Given the description of an element on the screen output the (x, y) to click on. 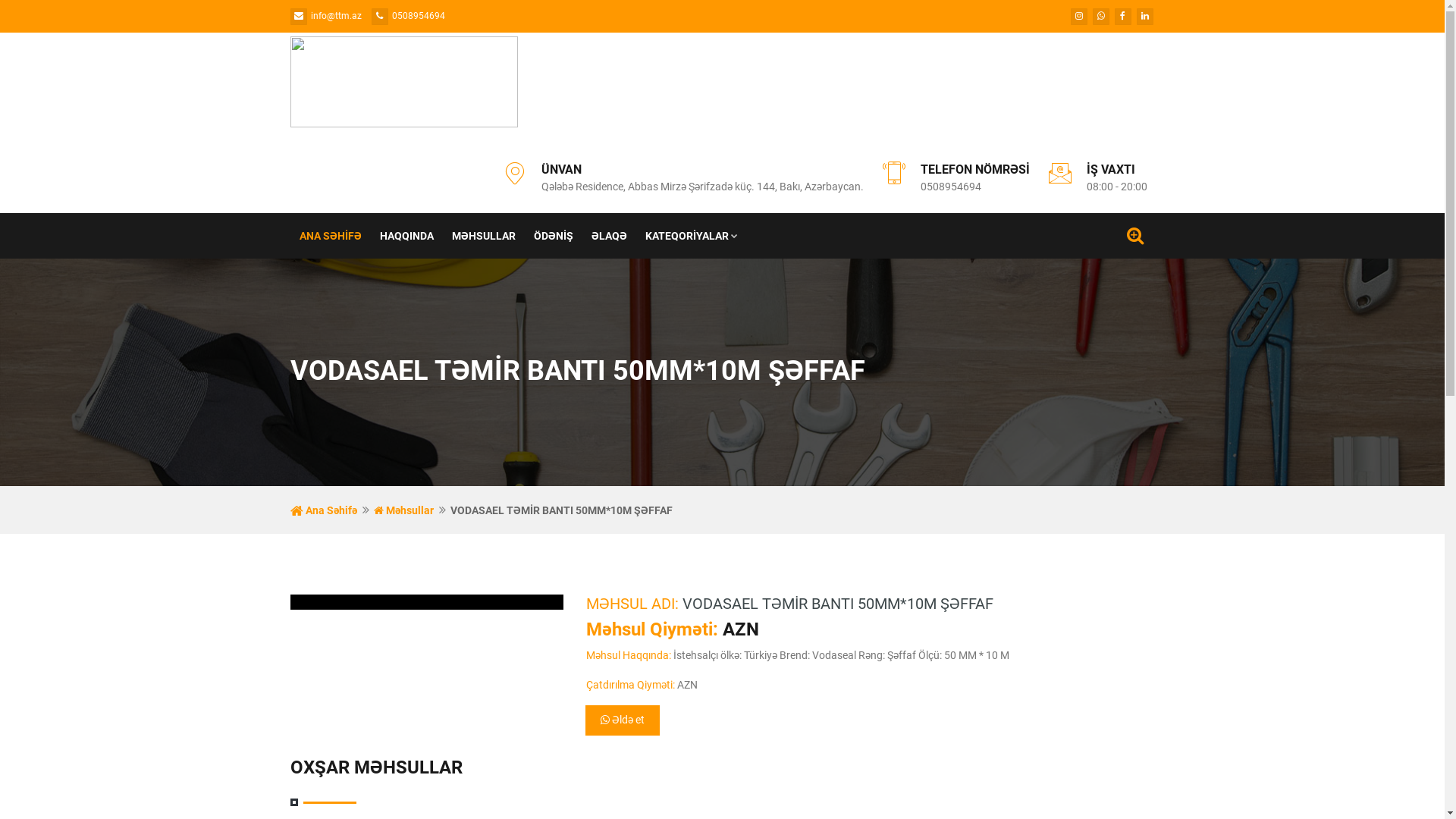
KATEQORIYALAR Element type: text (690, 235)
Linkedin Element type: hover (1143, 16)
Facebook Element type: hover (1122, 16)
Whatsapp Element type: hover (1100, 16)
HAQQINDA Element type: text (406, 235)
